Given the description of an element on the screen output the (x, y) to click on. 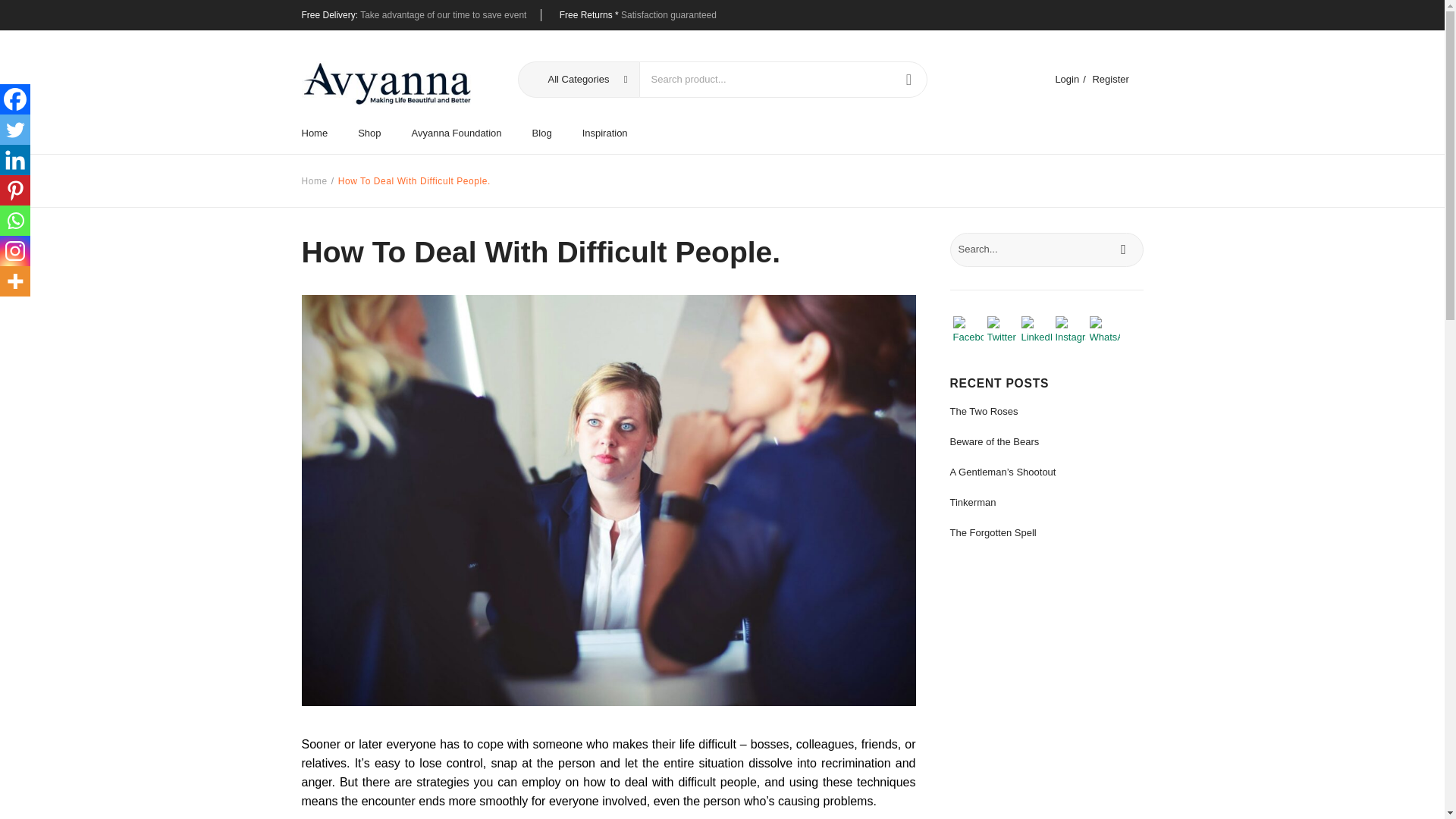
Shop (369, 133)
Twitter (15, 129)
Avyanna Foundation (456, 133)
Search product... (764, 79)
Facebook (15, 99)
Search... (1046, 248)
Avyanna (387, 82)
Login (1066, 79)
Register (1110, 79)
Home (322, 133)
